Given the description of an element on the screen output the (x, y) to click on. 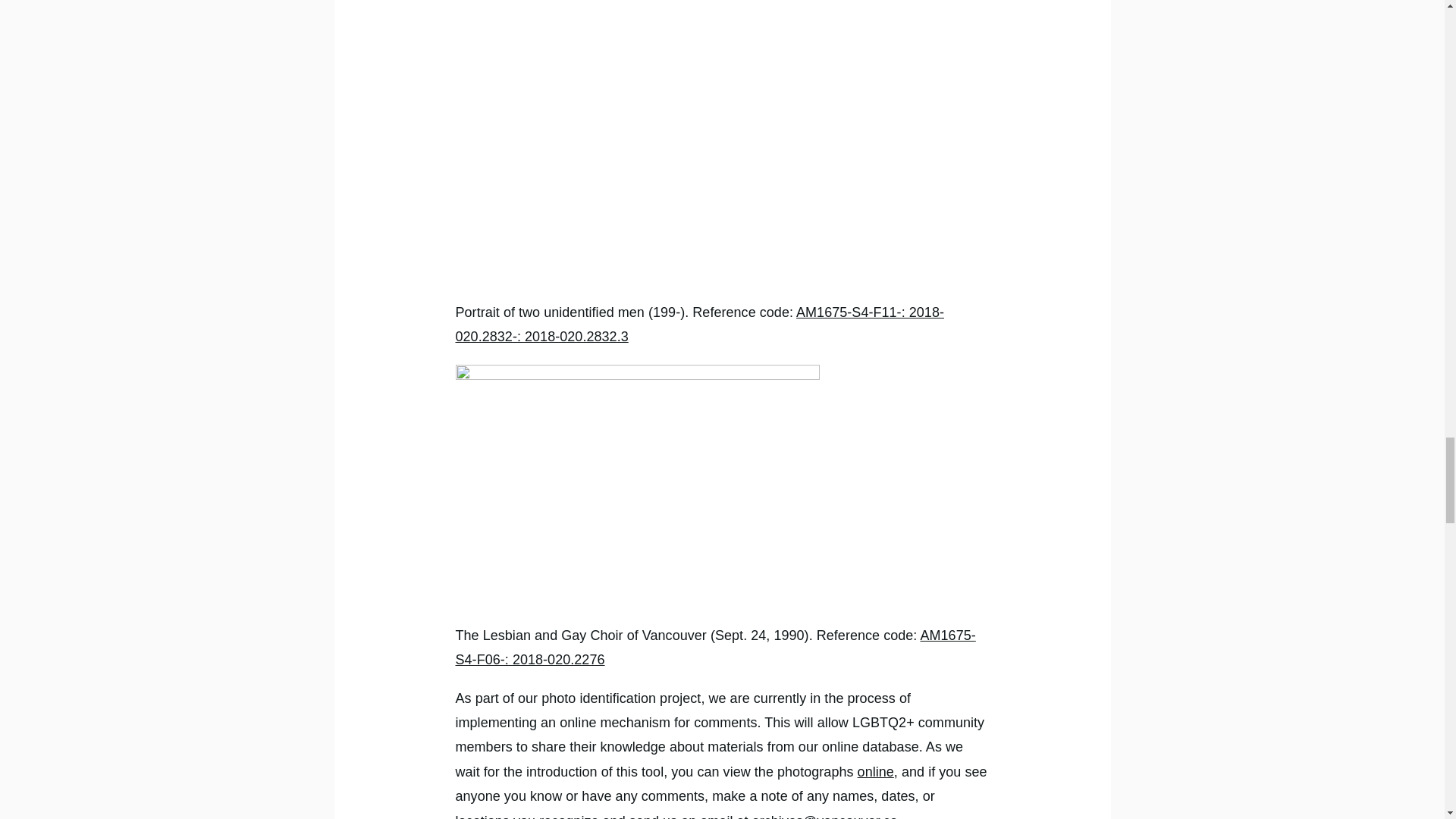
AM1675-S4-F11-: 2018-020.2832-: 2018-020.2832.3 (698, 323)
AM1675-S4-F06-: 2018-020.2276 (714, 647)
online (875, 771)
